Given the description of an element on the screen output the (x, y) to click on. 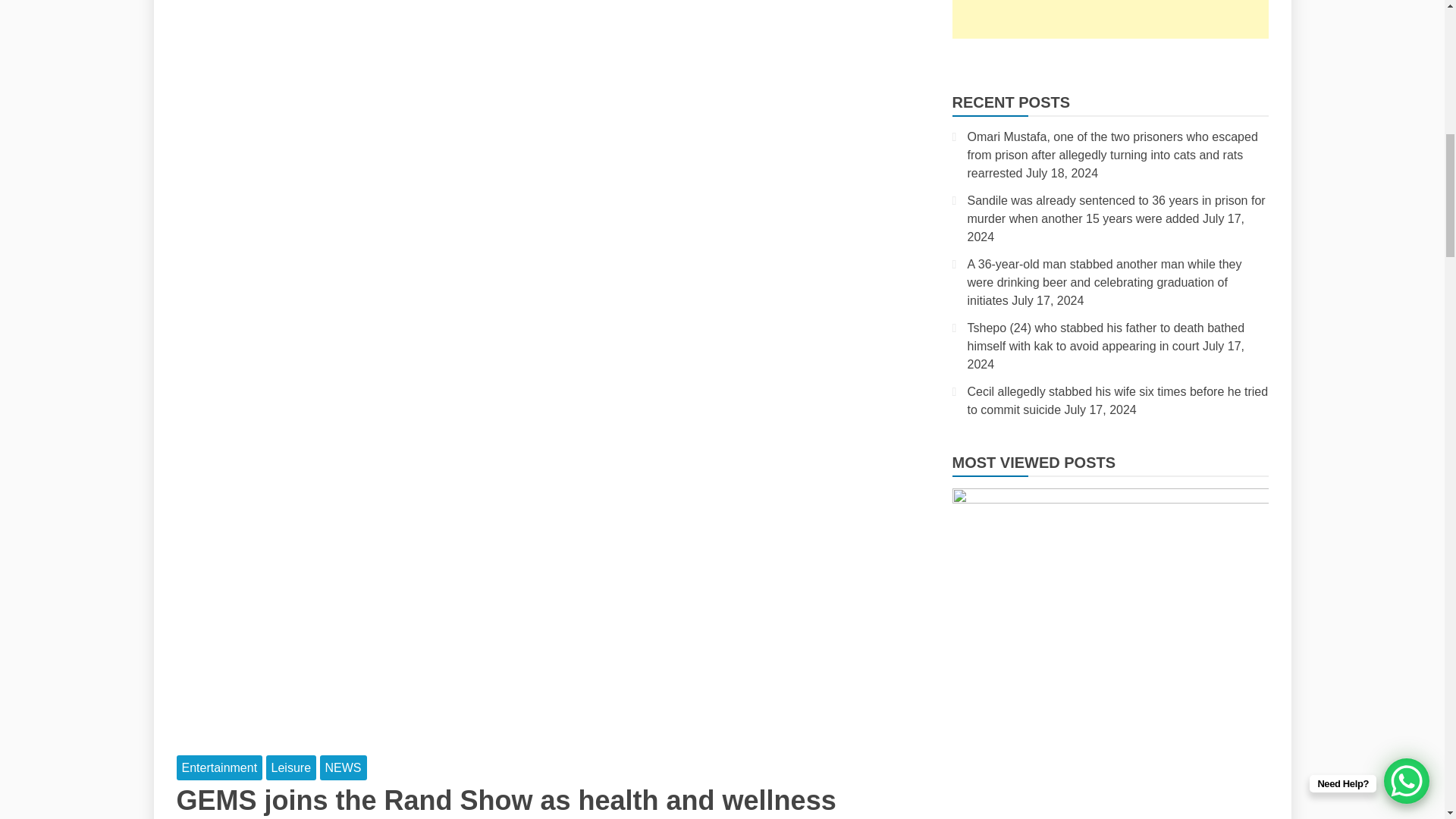
Leisure (290, 767)
Entertainment (219, 767)
NEWS (343, 767)
Advertisement (1110, 19)
